Given the description of an element on the screen output the (x, y) to click on. 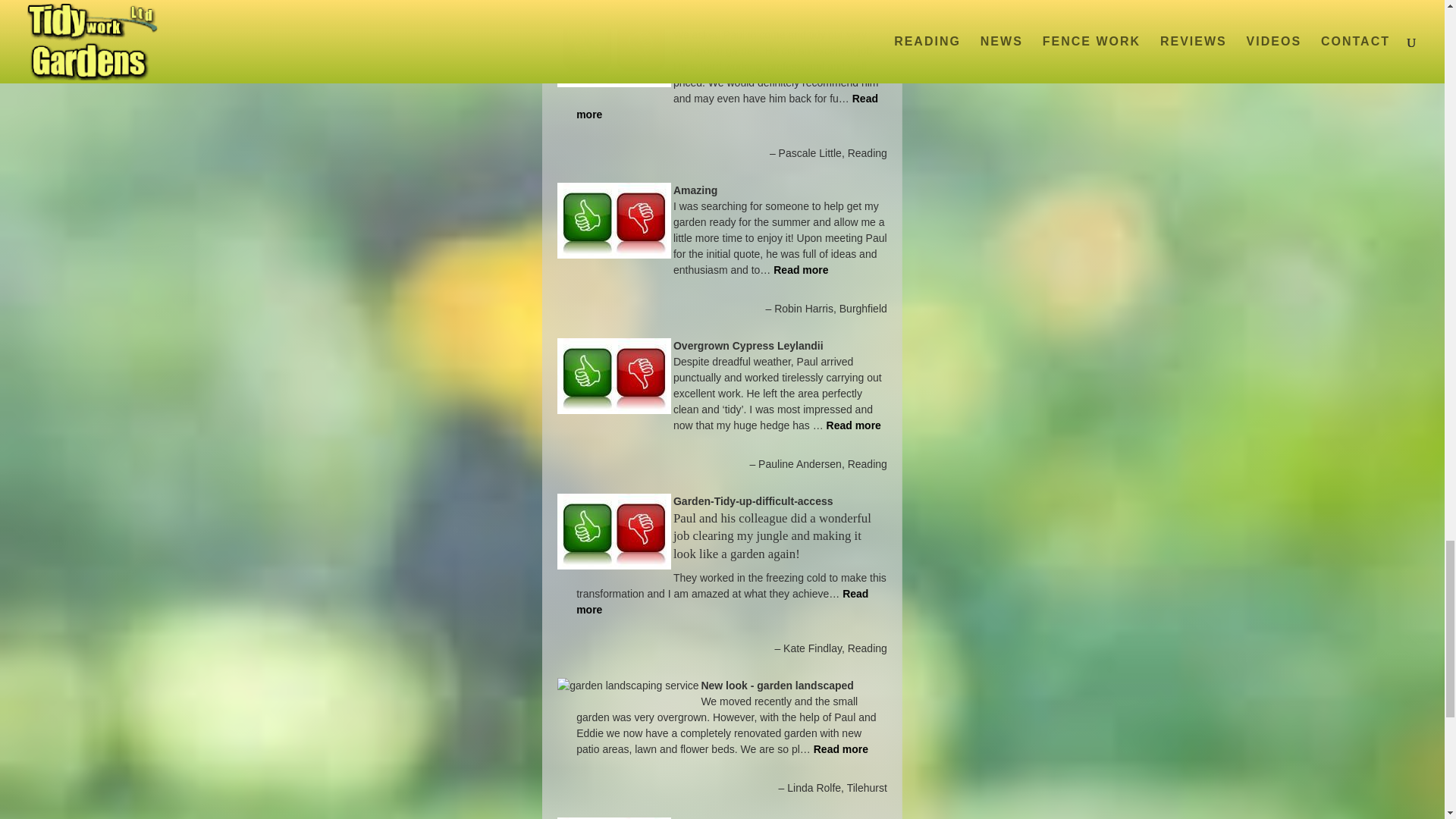
Read more (726, 106)
Read more (721, 601)
Read more (853, 425)
Read more (840, 748)
Read more (800, 269)
